Given the description of an element on the screen output the (x, y) to click on. 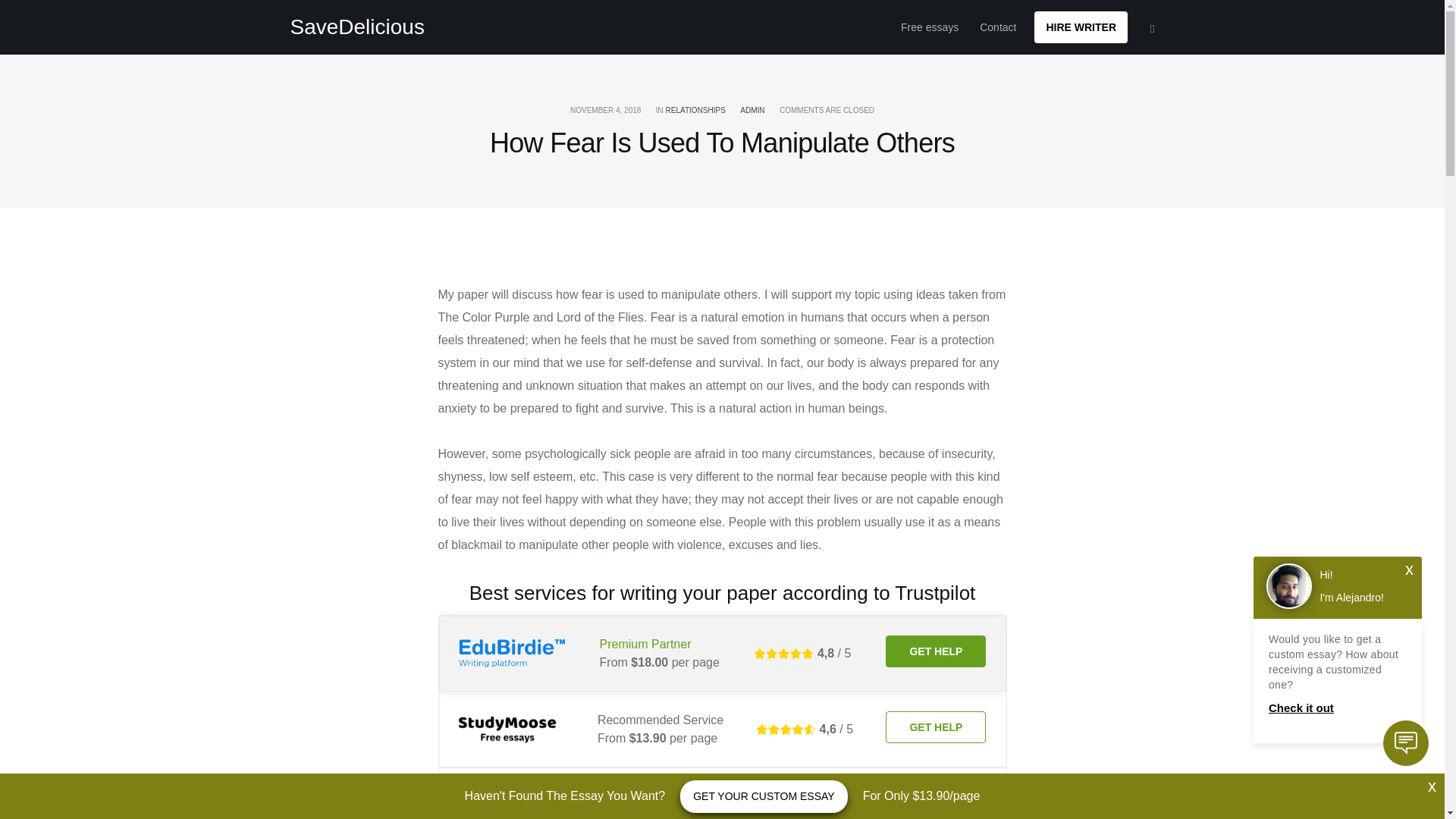
SaveDelicious (356, 27)
Posts by admin (751, 110)
GET YOUR CUSTOM ESSAY (763, 795)
GET HELP (935, 726)
Contact (997, 27)
ADMIN (751, 110)
Check it out (1337, 707)
GET HELP (935, 803)
Free essays (929, 27)
GET HELP (935, 651)
HIRE WRITER (1079, 27)
RELATIONSHIPS (695, 110)
